Given the description of an element on the screen output the (x, y) to click on. 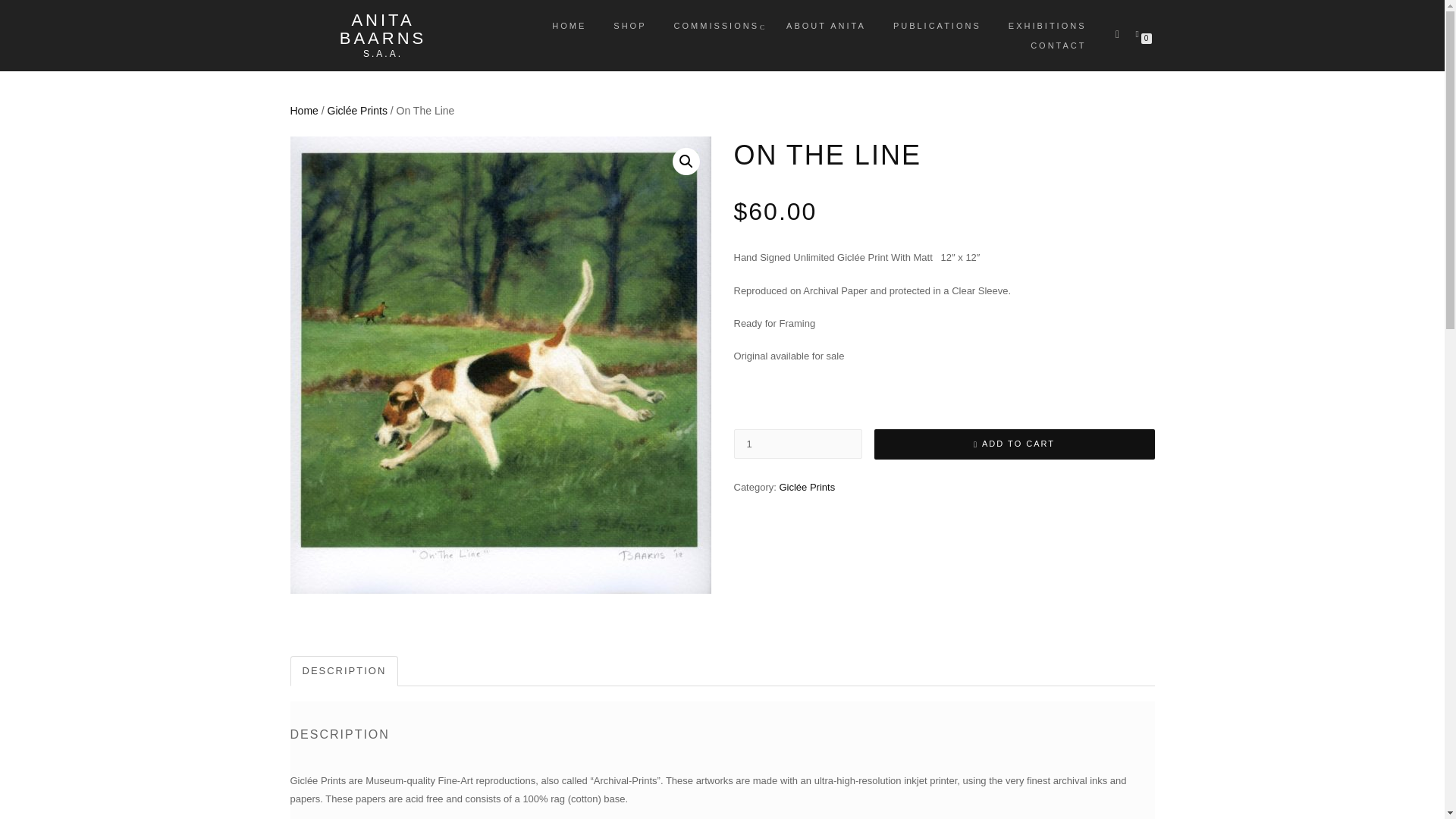
Home (303, 110)
1 (798, 443)
ADD TO CART (1013, 444)
SHOP (630, 25)
DESCRIPTION (343, 671)
EXHIBITIONS (1047, 25)
0 (1139, 32)
View your shopping cart (1139, 32)
PUBLICATIONS (937, 25)
Anita Baarns (382, 29)
S.A.A. (382, 53)
S.A.A. (382, 53)
CONTACT (1058, 45)
COMMISSIONS (716, 25)
